Given the description of an element on the screen output the (x, y) to click on. 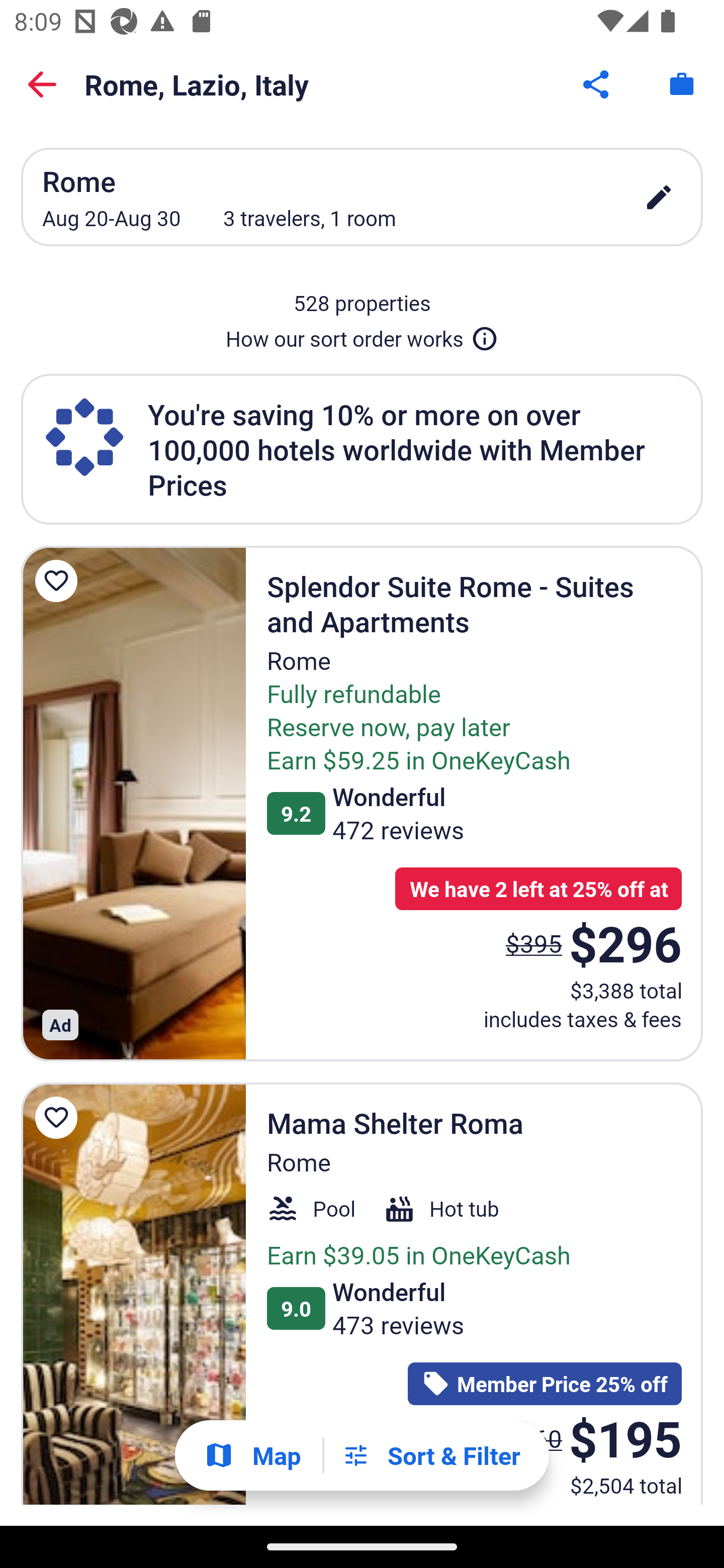
Back (42, 84)
Share Button (597, 84)
Trips. Button (681, 84)
Rome Aug 20-Aug 30 3 travelers, 1 room edit (361, 196)
How our sort order works (361, 334)
Splendor Suite Rome - Suites and Apartments  (133, 803)
$395 The price was $395 (533, 943)
Save Mama Shelter Roma  to a trip (59, 1117)
Mama Shelter Roma  (133, 1293)
Filters Sort & Filter Filters Button (430, 1455)
Show map Map Show map Button (252, 1455)
